Given the description of an element on the screen output the (x, y) to click on. 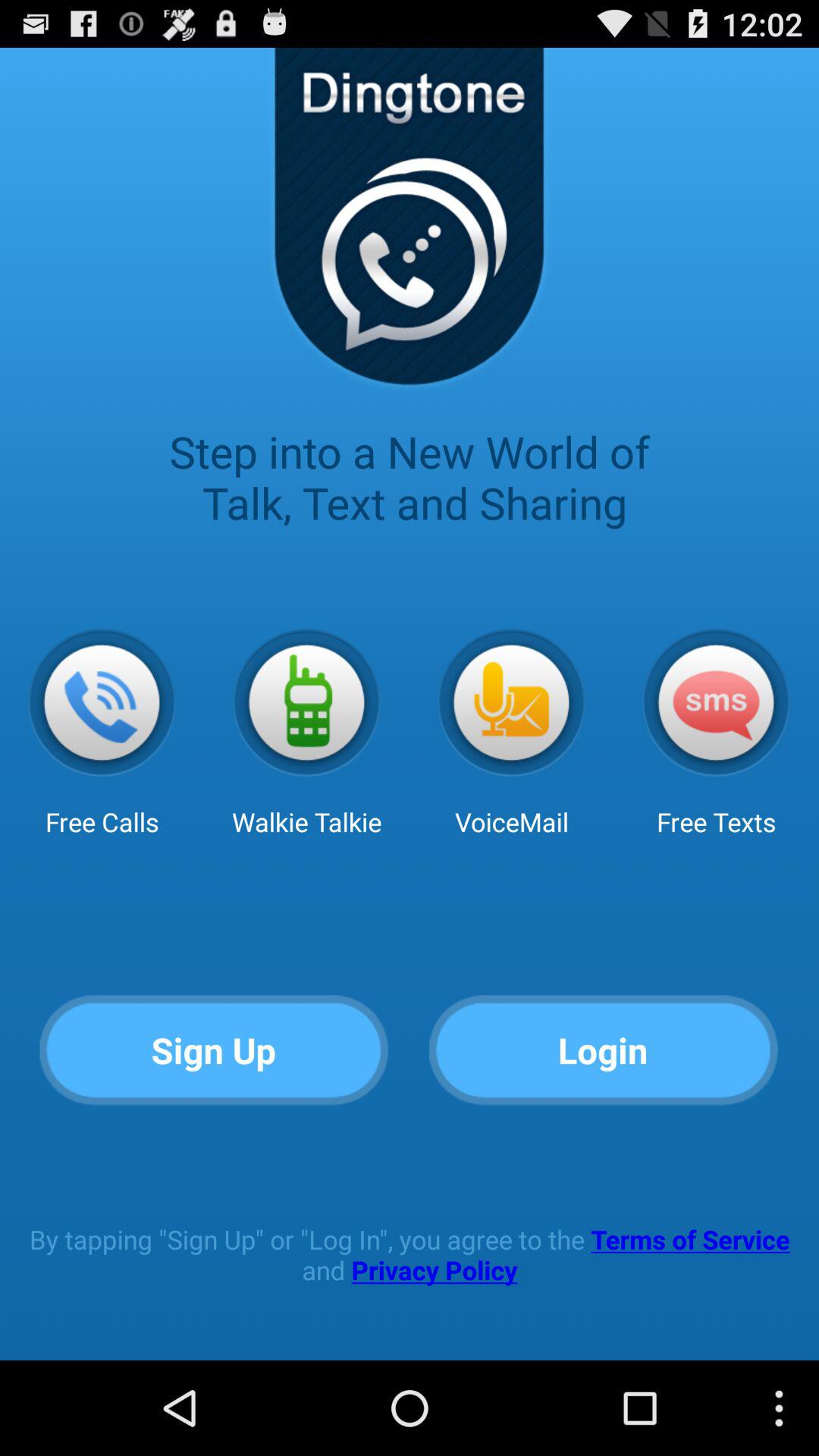
open button to the right of the sign up (604, 1050)
